Given the description of an element on the screen output the (x, y) to click on. 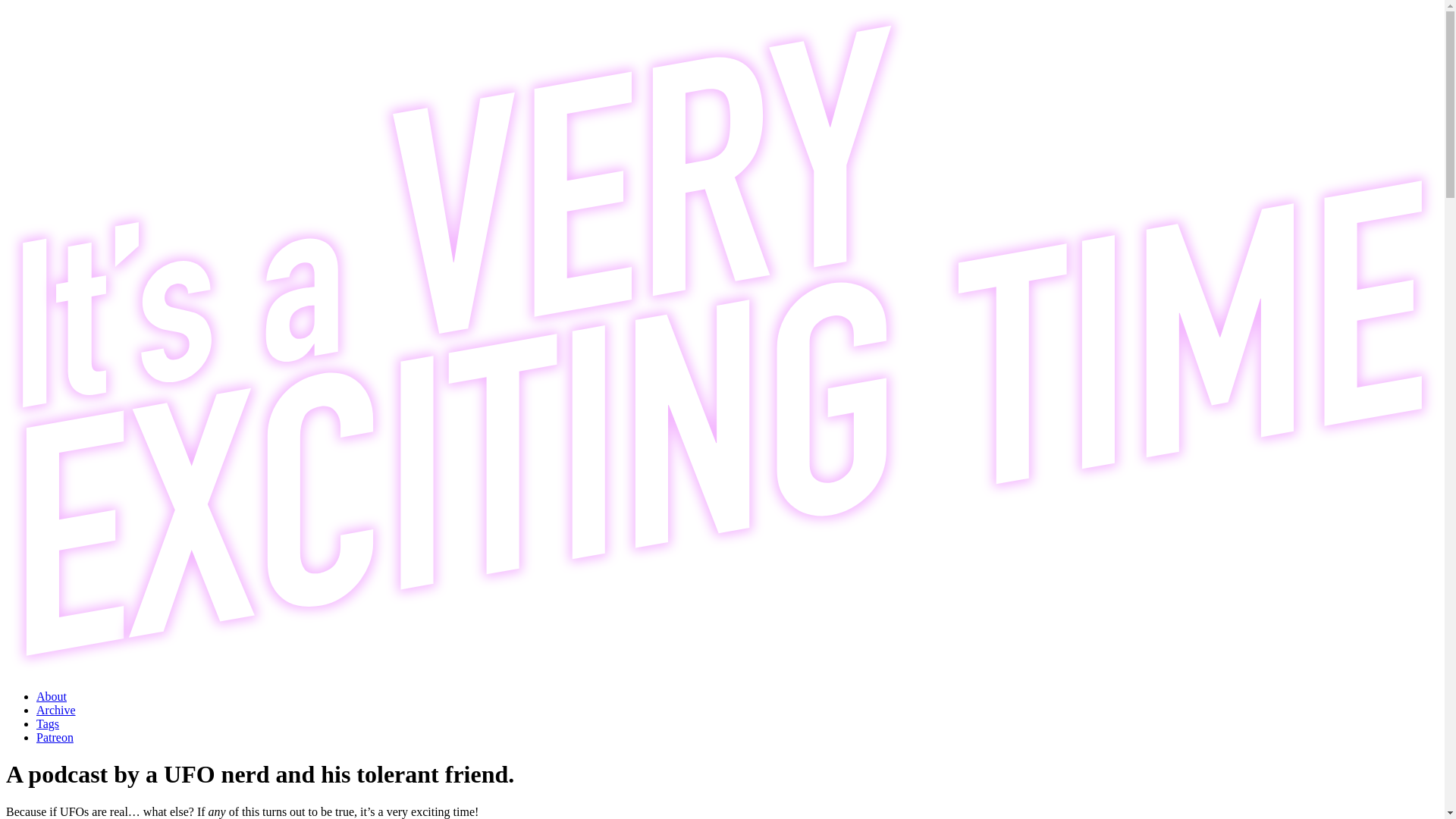
About (51, 696)
Archive (55, 709)
Patreon (55, 737)
Tags (47, 723)
